Given the description of an element on the screen output the (x, y) to click on. 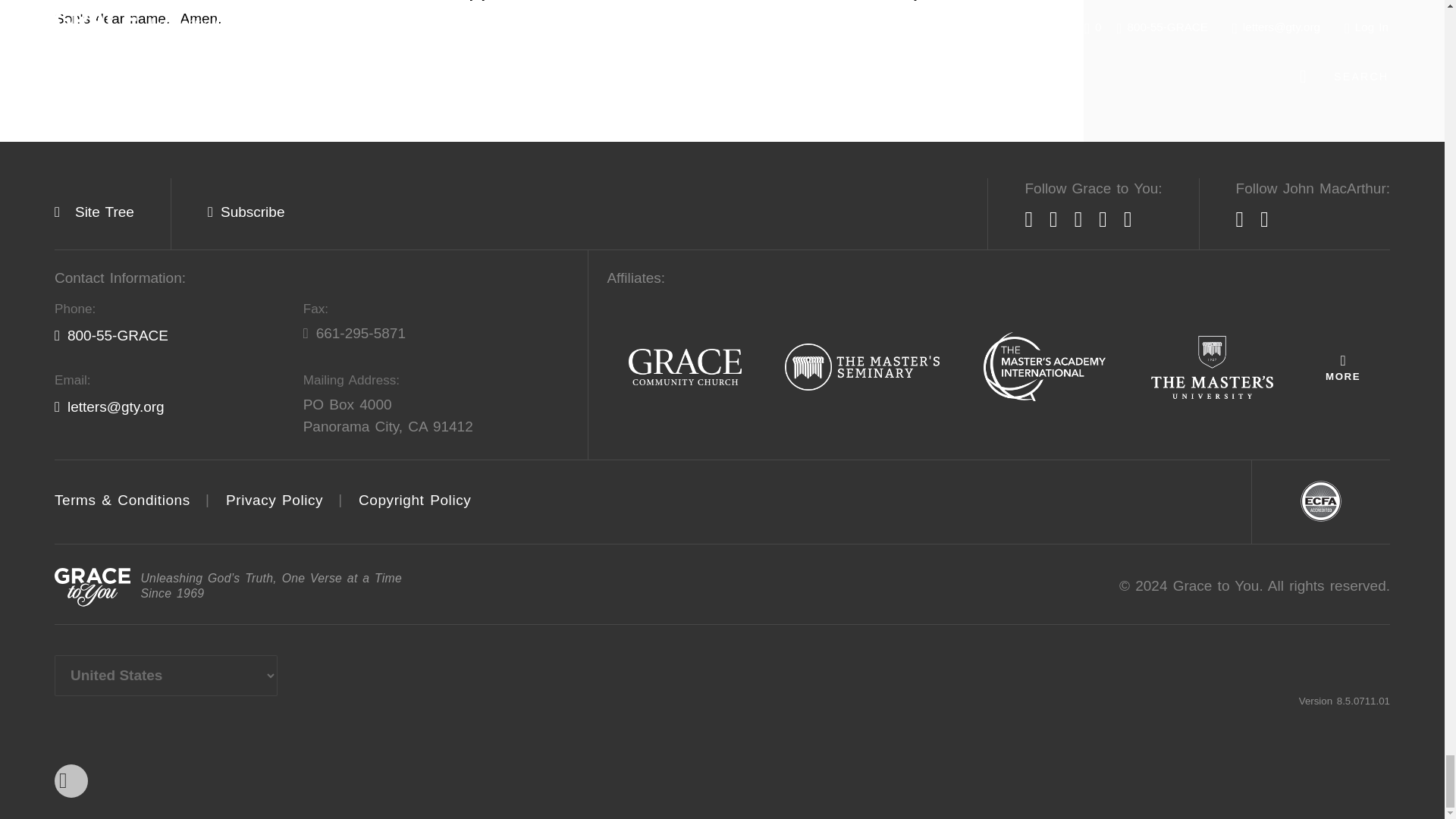
The Master' Seminary (862, 368)
The Master' Academy International (1044, 367)
Grace-to-You (93, 587)
Grace Community Church (684, 367)
More Affiliates (1341, 367)
The Master' University (1211, 367)
